Given the description of an element on the screen output the (x, y) to click on. 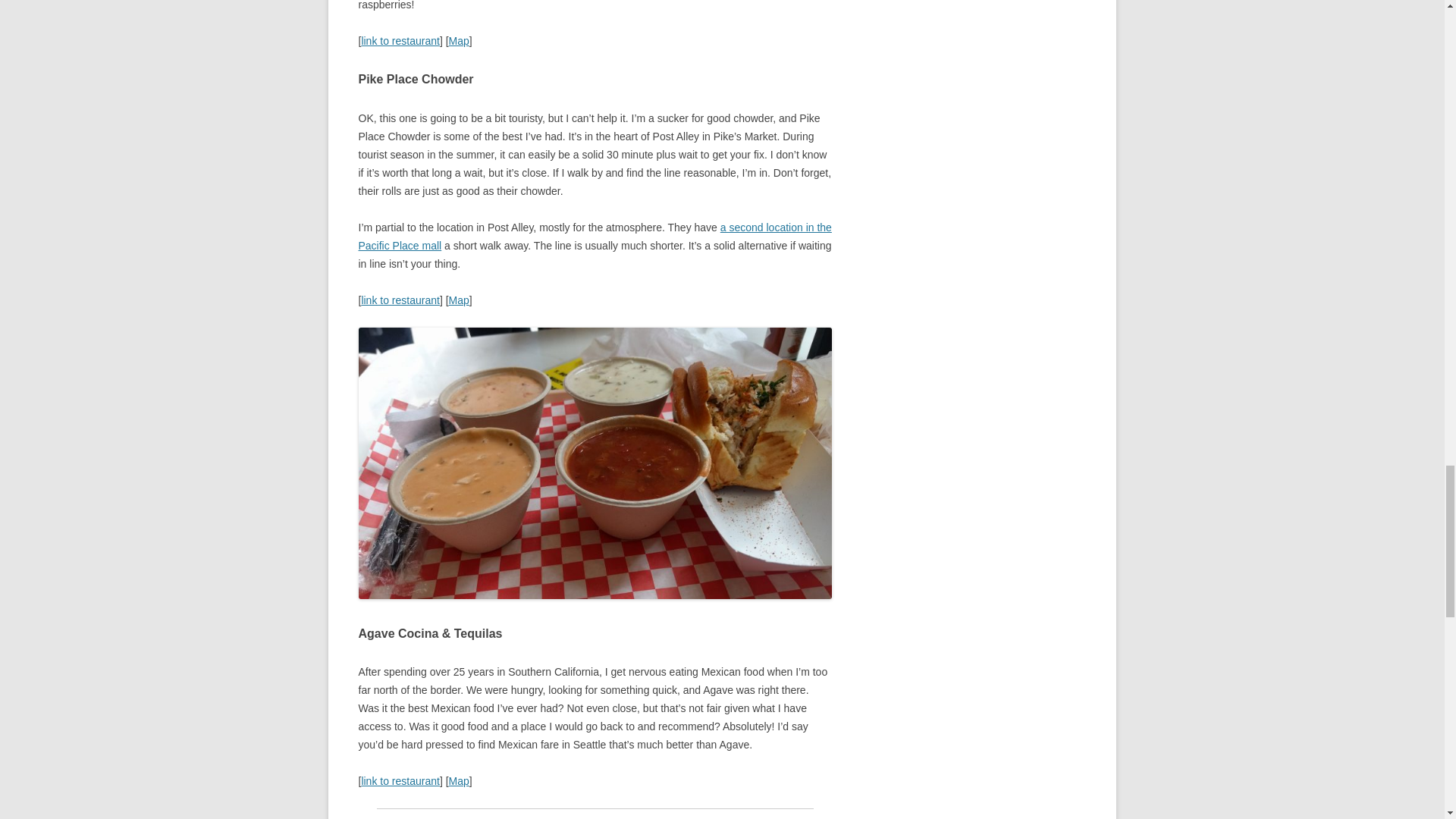
link to restaurant (400, 780)
link to restaurant (400, 40)
a second location in the Pacific Place mall (594, 236)
Map (458, 300)
Map (458, 40)
Map (458, 780)
link to restaurant (400, 300)
